Given the description of an element on the screen output the (x, y) to click on. 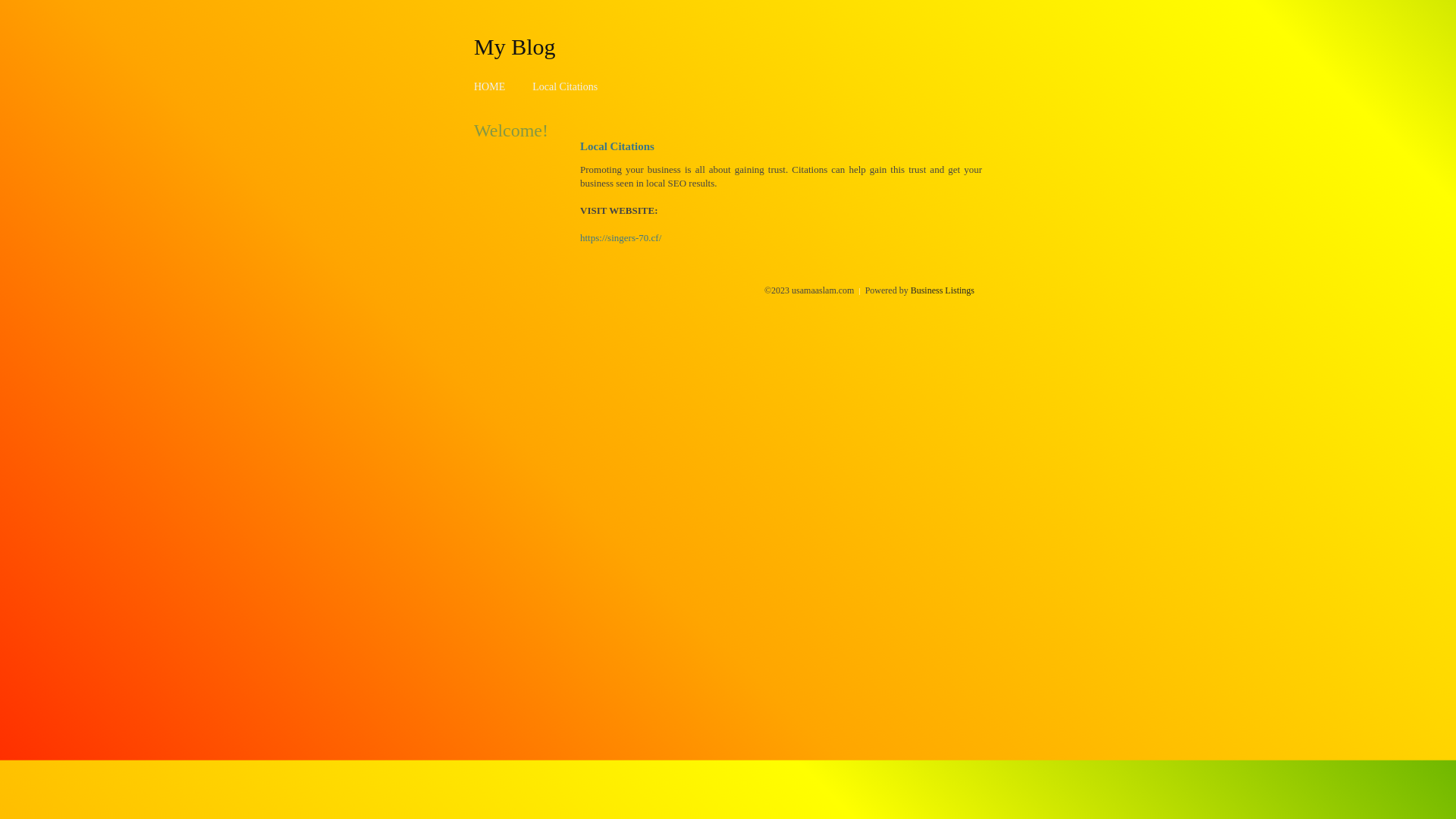
HOME Element type: text (489, 86)
My Blog Element type: text (514, 46)
Local Citations Element type: text (564, 86)
https://singers-70.cf/ Element type: text (620, 237)
Business Listings Element type: text (942, 290)
